Given the description of an element on the screen output the (x, y) to click on. 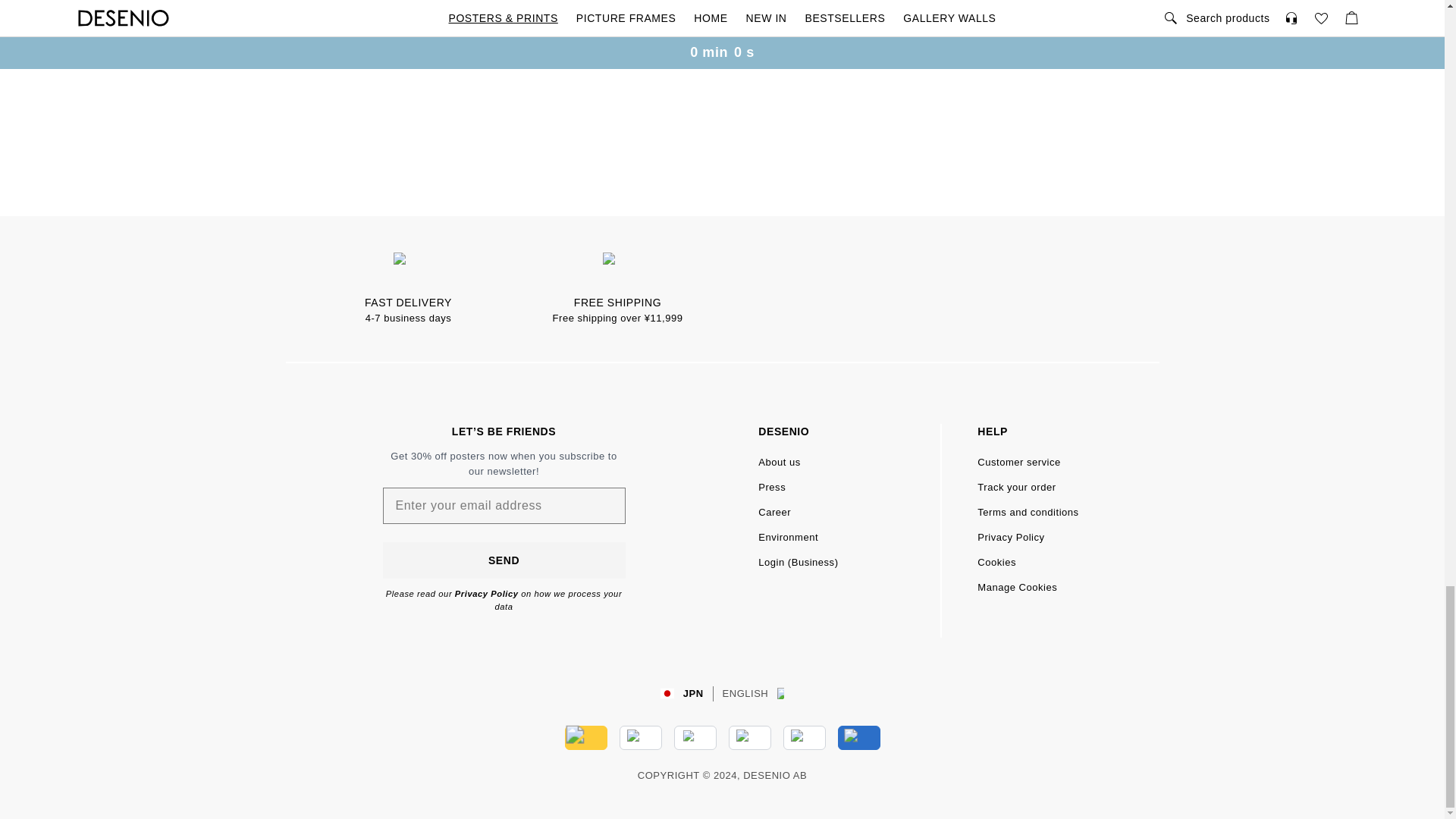
Mastercard (694, 737)
American Express (858, 737)
DHL (585, 737)
PayPal (749, 737)
Apple Pay (804, 737)
Visa (639, 737)
